Given the description of an element on the screen output the (x, y) to click on. 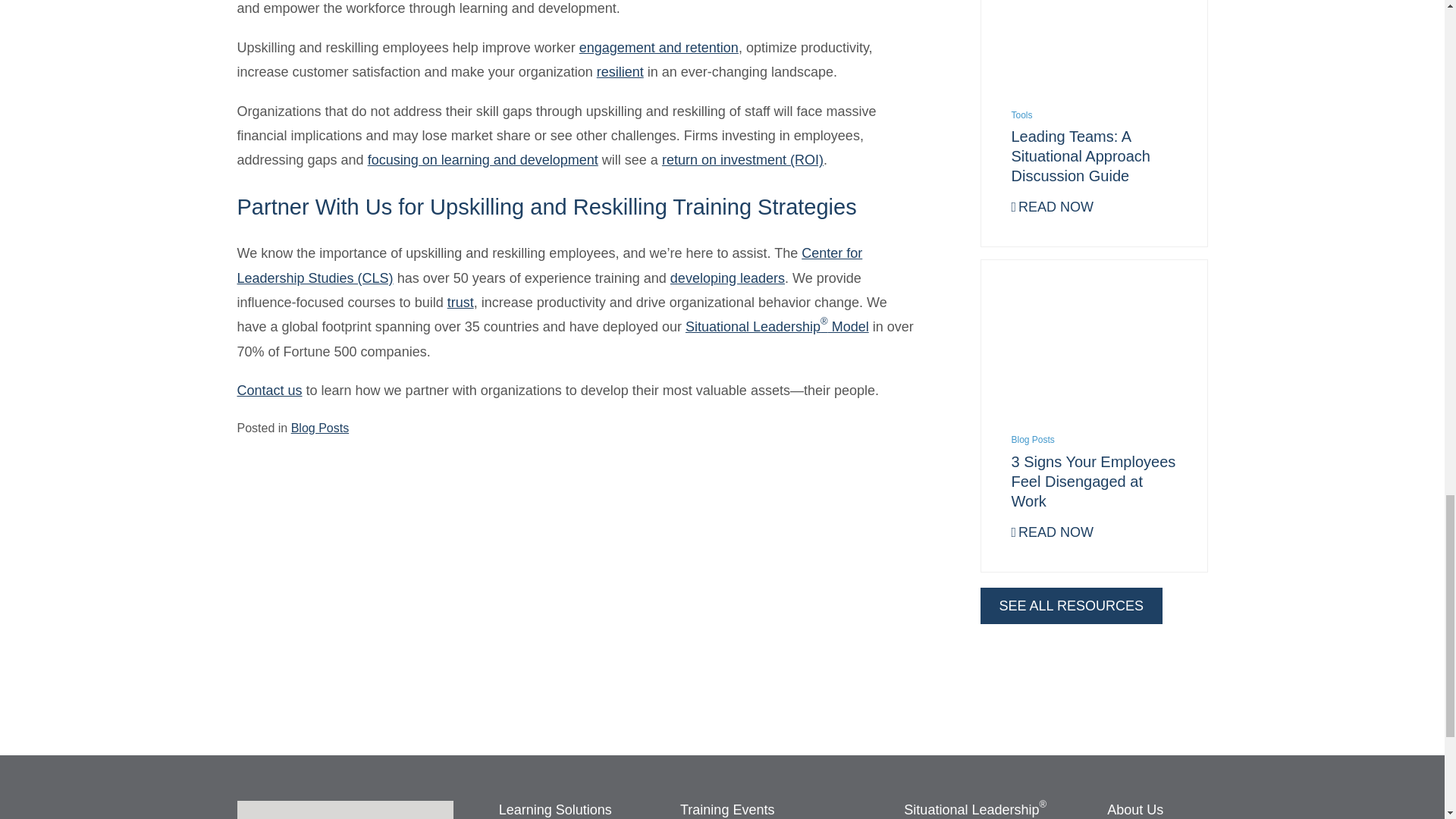
View all posts in Blog Posts (320, 427)
